Given the description of an element on the screen output the (x, y) to click on. 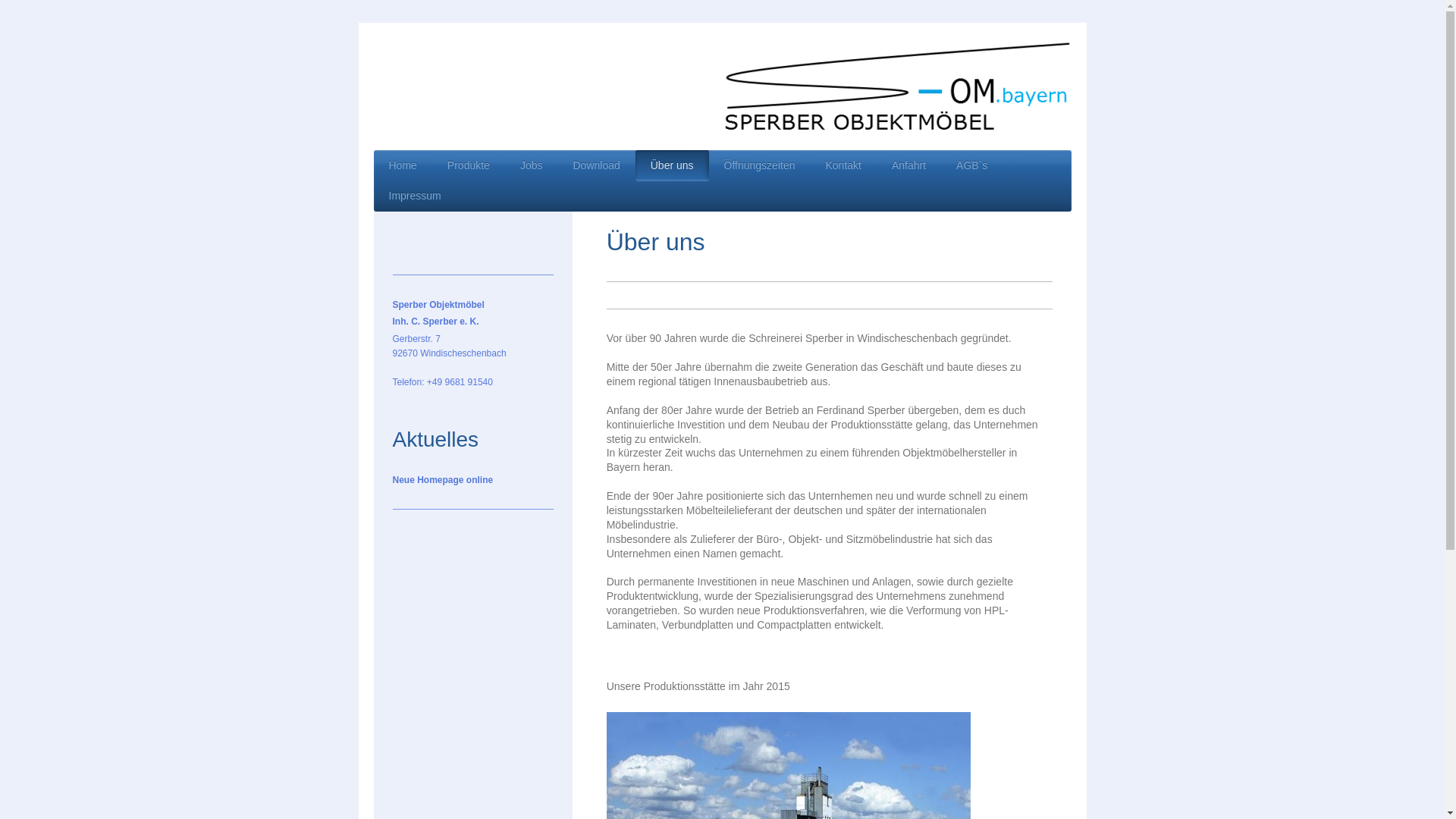
Home Element type: text (402, 165)
Jobs Element type: text (531, 165)
Kontakt Element type: text (842, 165)
Produkte Element type: text (468, 165)
Download Element type: text (595, 165)
Anfahrt Element type: text (908, 165)
Impressum Element type: text (414, 196)
